Given the description of an element on the screen output the (x, y) to click on. 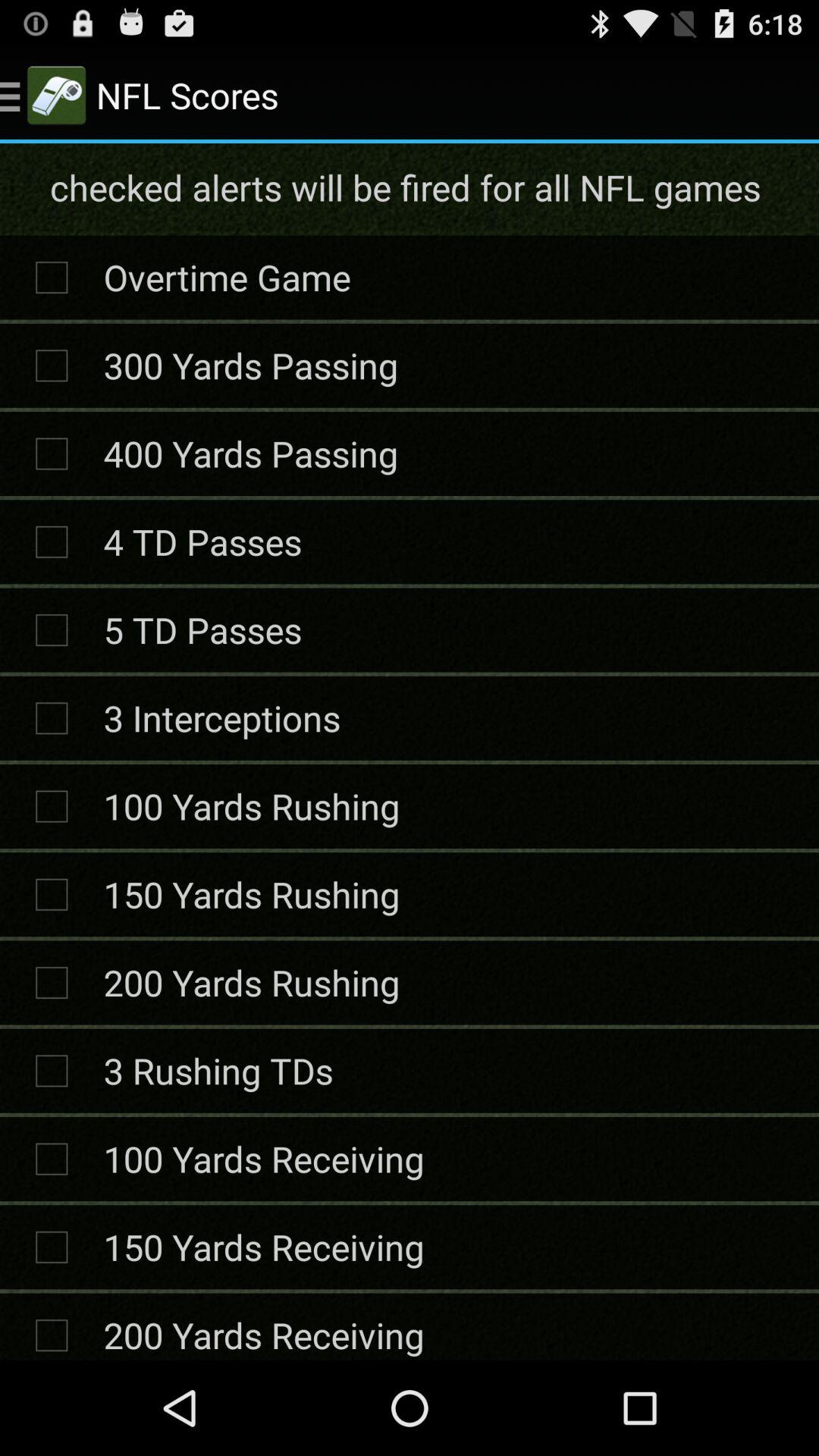
turn off the item below 200 yards rushing (218, 1070)
